Given the description of an element on the screen output the (x, y) to click on. 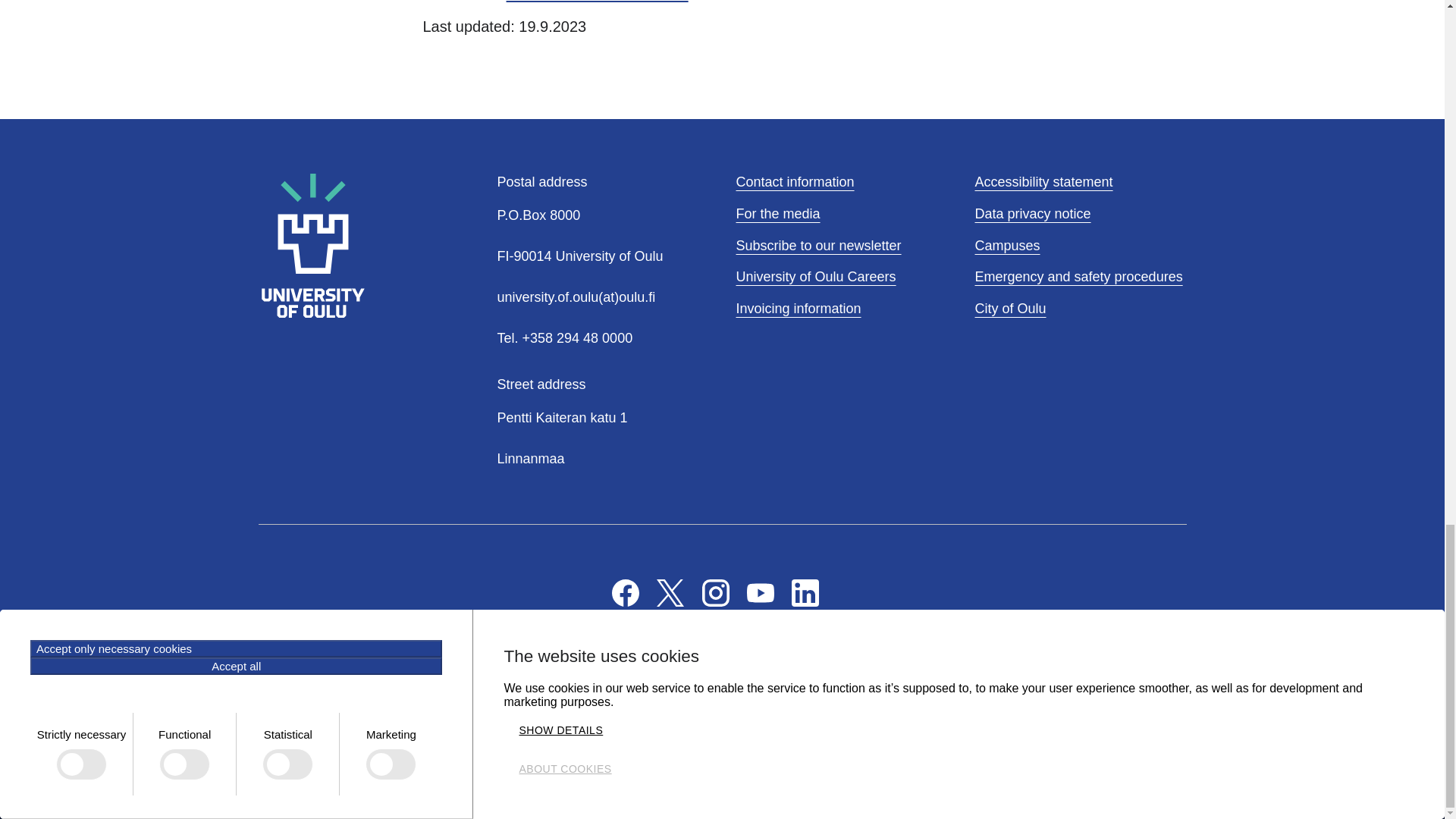
Facebook (625, 592)
Instagram (715, 592)
Youtube (760, 592)
LinkedIn (805, 592)
